Given the description of an element on the screen output the (x, y) to click on. 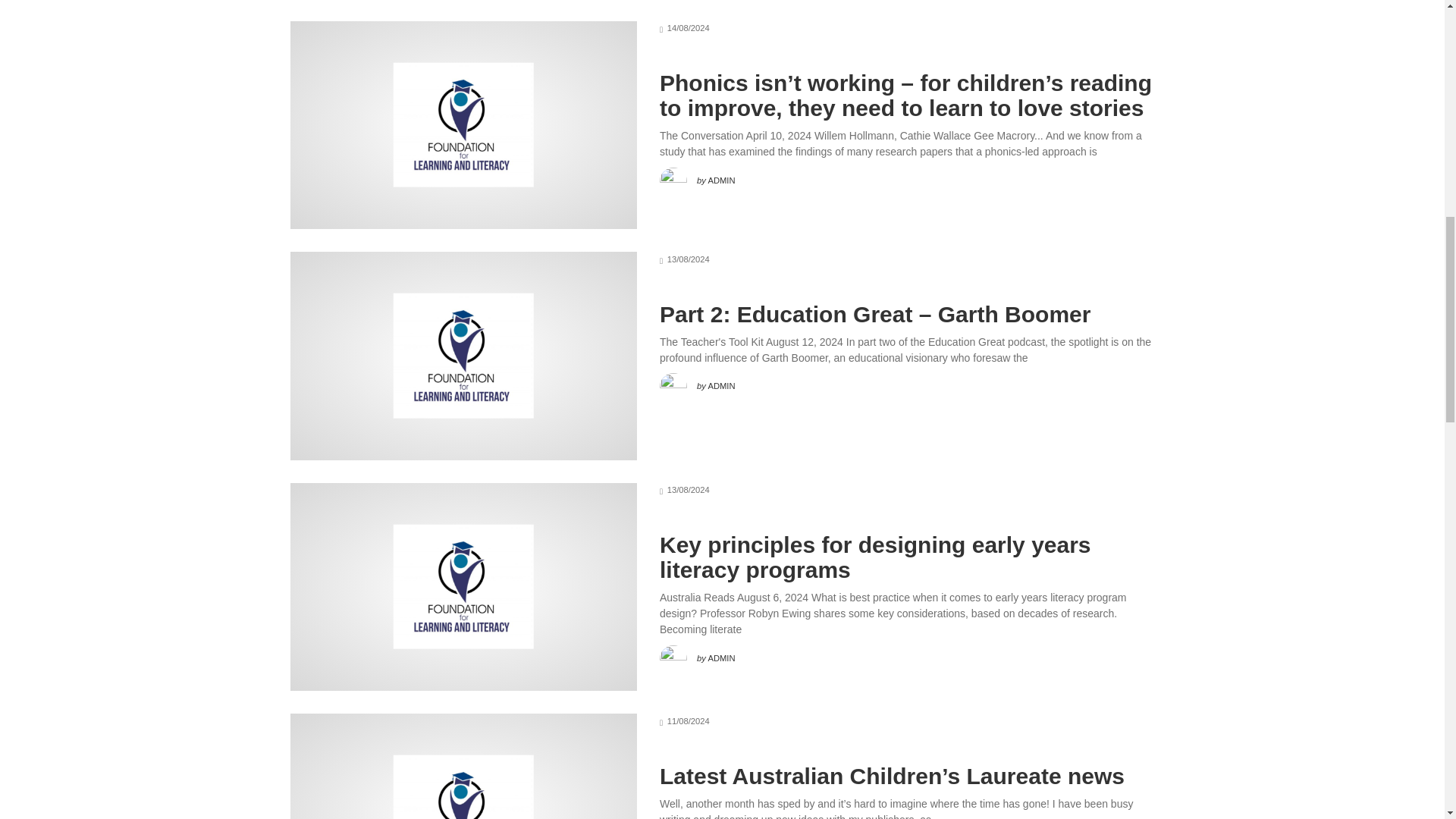
Key principles for designing early years literacy programs (874, 557)
Foundation for Learning and Literacy (463, 355)
by ADMIN (697, 176)
Foundation for Learning and Literacy (463, 124)
Foundation for Learning and Literacy (463, 787)
by ADMIN (697, 381)
Foundation for Learning and Literacy (463, 586)
